Given the description of an element on the screen output the (x, y) to click on. 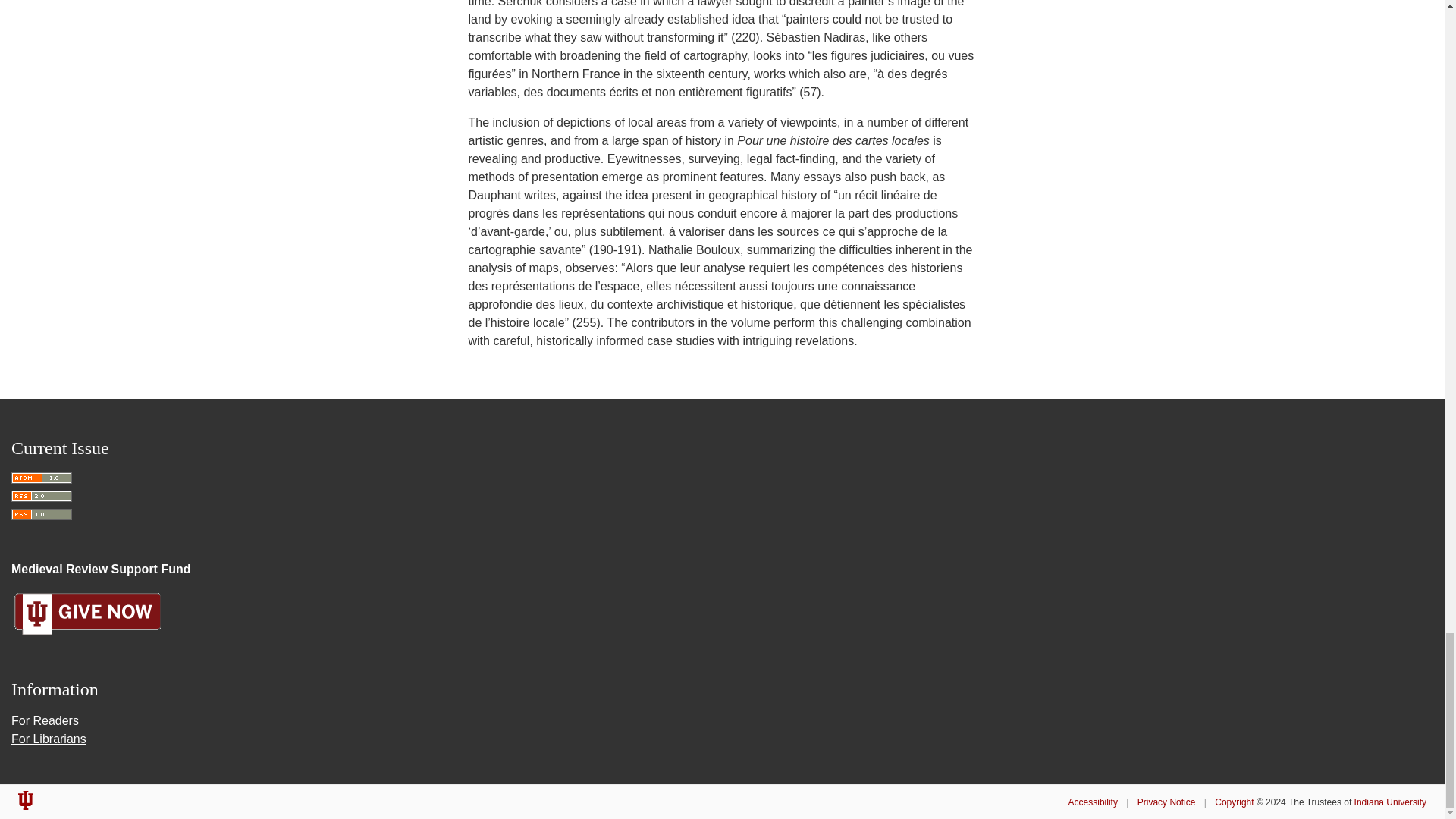
Copyright (1233, 801)
Indiana University (1390, 801)
For Librarians (48, 738)
Privacy Notice (1166, 801)
For Readers (44, 720)
Accessibility (1093, 801)
